Given the description of an element on the screen output the (x, y) to click on. 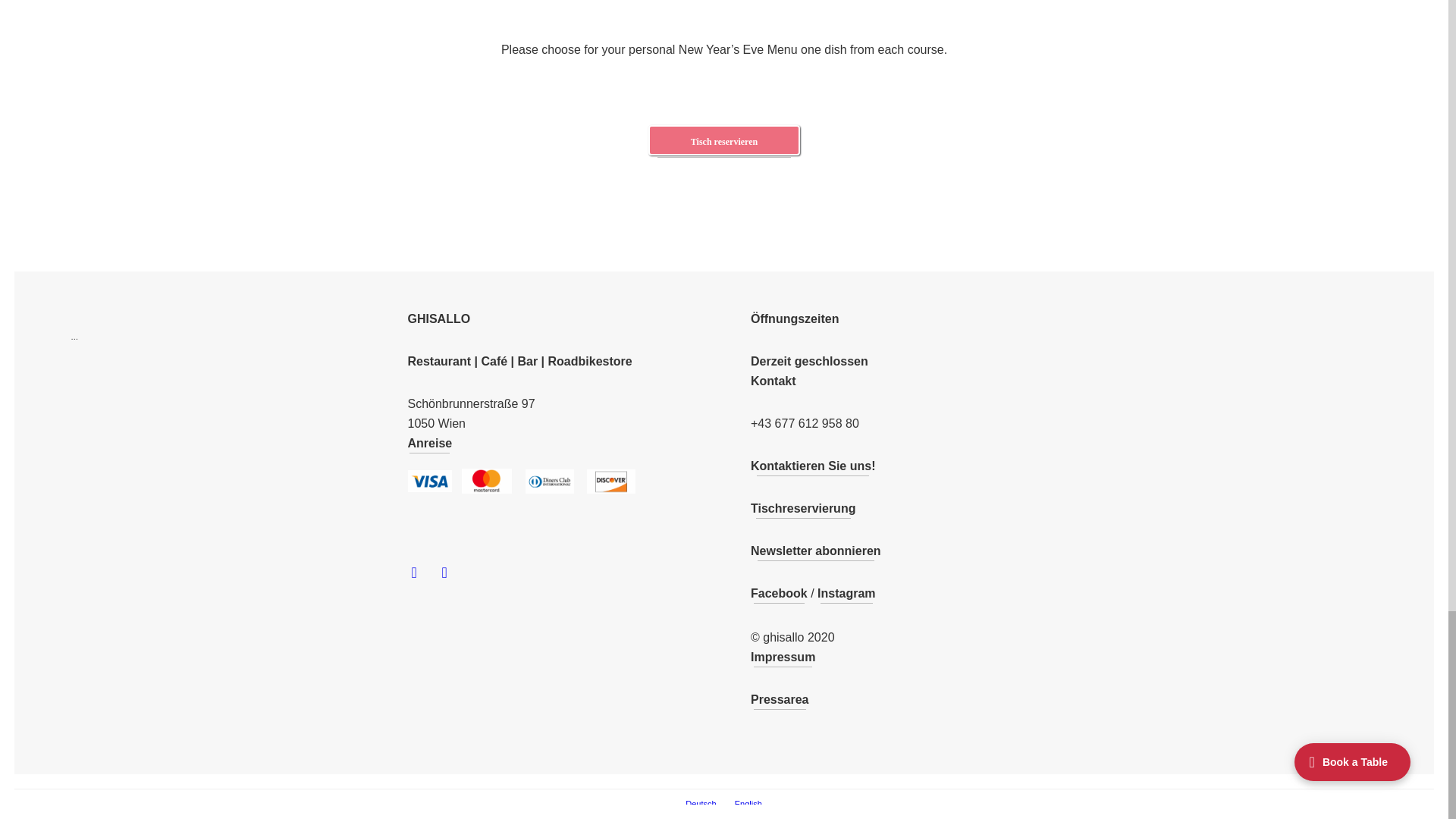
Newsletter abonnieren (815, 550)
Tisch reservieren (723, 140)
Kontaktieren Sie uns! (813, 465)
Pressarea (780, 698)
Instagram (845, 593)
Tischreservierung (803, 508)
Anreise (429, 442)
Impressum (783, 656)
Facebook (779, 593)
